Given the description of an element on the screen output the (x, y) to click on. 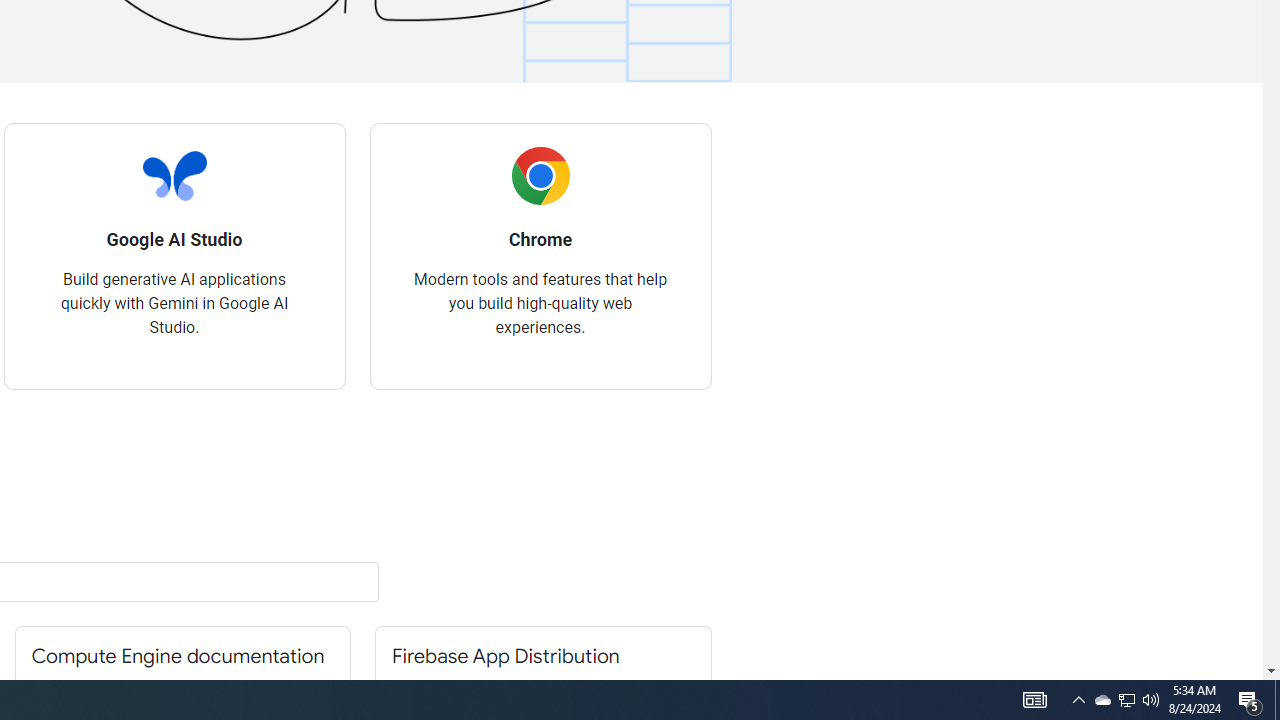
ChromeOS logo (540, 176)
Google AI Studio logo (174, 176)
